Given the description of an element on the screen output the (x, y) to click on. 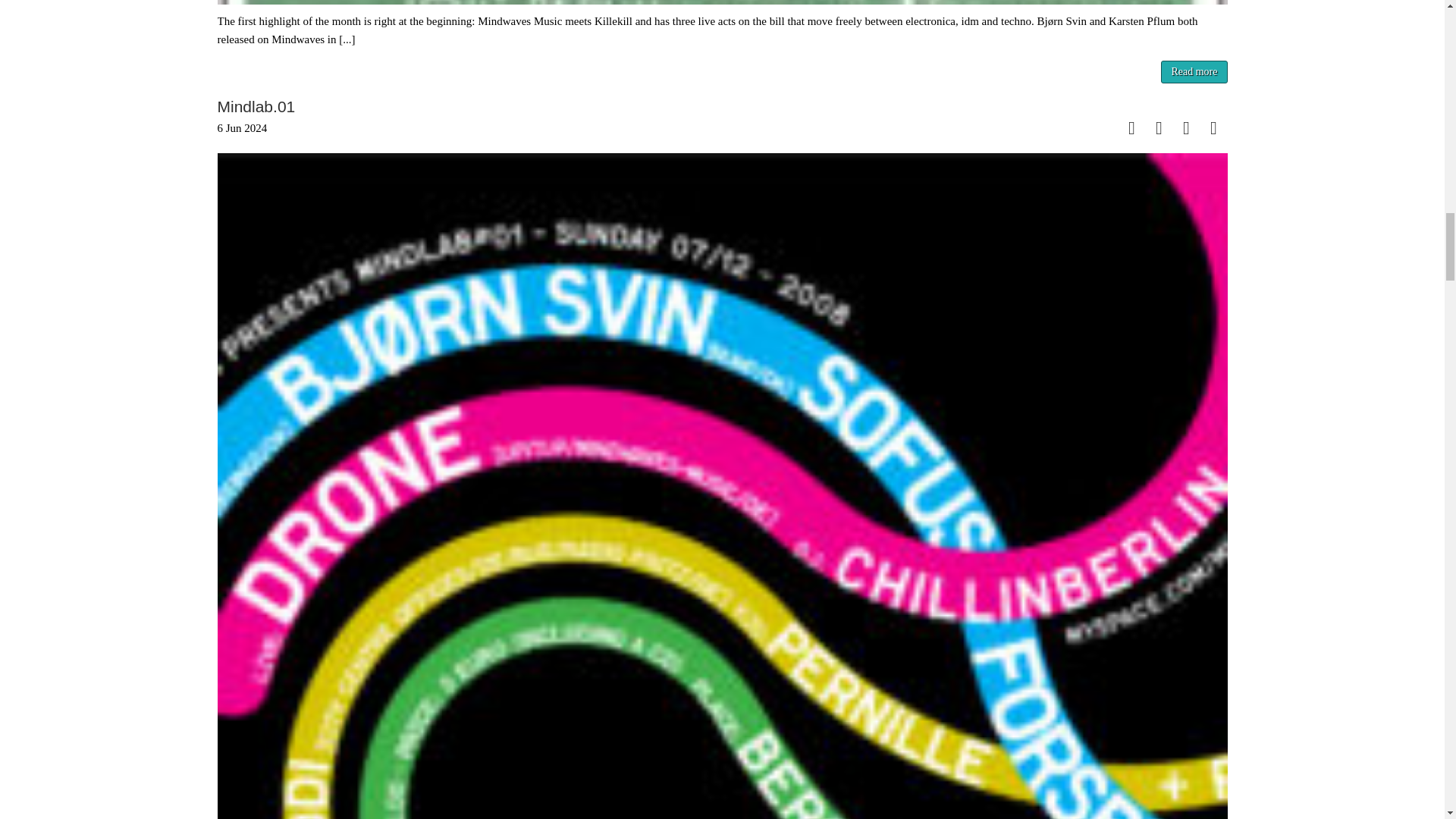
Read more (1193, 71)
Mindlab.01 (255, 105)
